Given the description of an element on the screen output the (x, y) to click on. 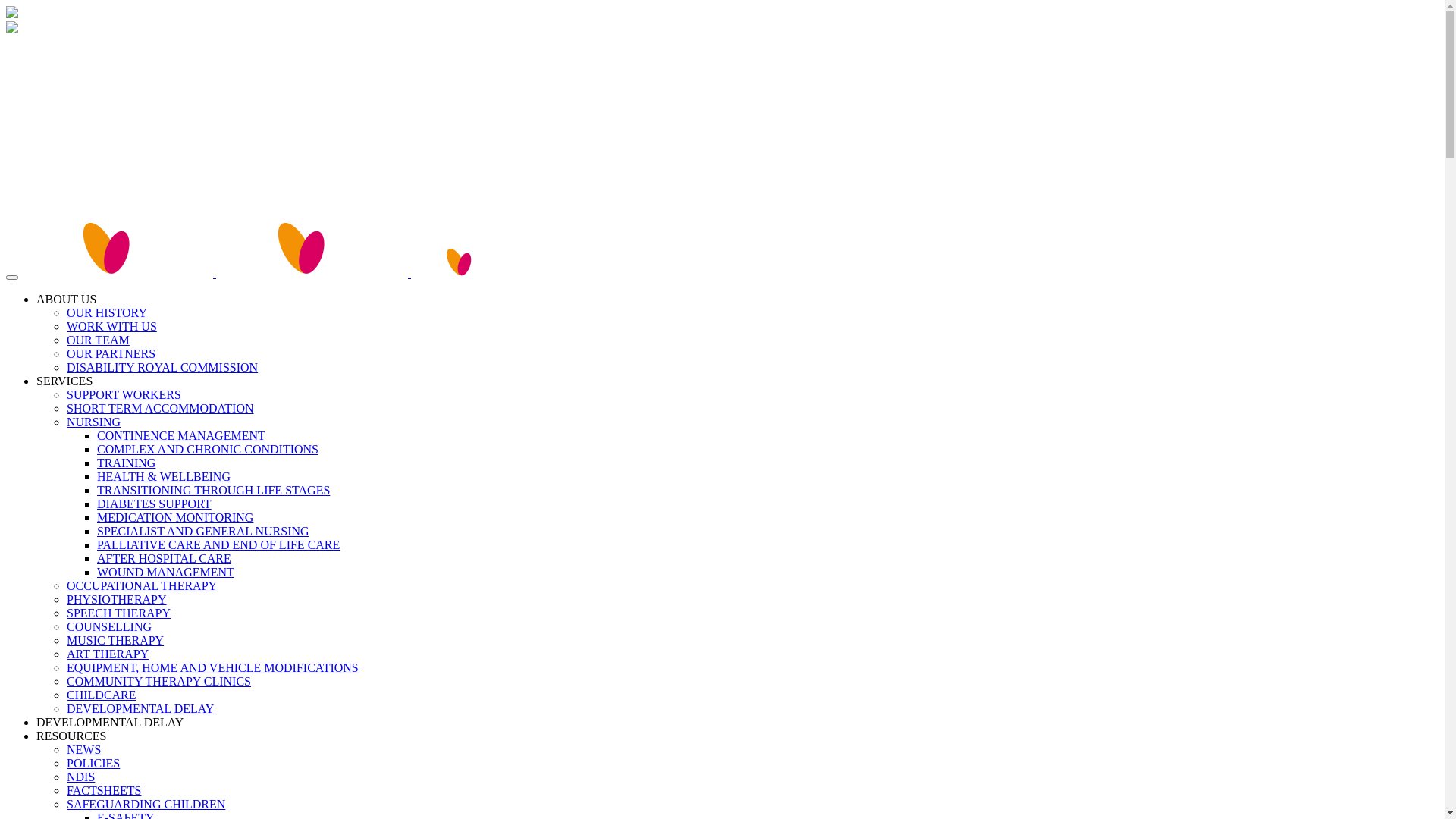
HEALTH & WELLBEING Element type: text (163, 476)
ABOUT US Element type: text (66, 298)
DIABETES SUPPORT Element type: text (154, 503)
WOUND MANAGEMENT Element type: text (165, 571)
ART THERAPY Element type: text (107, 653)
SERVICES Element type: text (64, 380)
SHORT TERM ACCOMMODATION Element type: text (159, 407)
TRANSITIONING THROUGH LIFE STAGES Element type: text (213, 489)
EQUIPMENT, HOME AND VEHICLE MODIFICATIONS Element type: text (212, 667)
SAFEGUARDING CHILDREN Element type: text (145, 803)
POLICIES Element type: text (92, 762)
DEVELOPMENTAL DELAY Element type: text (139, 708)
DISABILITY ROYAL COMMISSION Element type: text (161, 366)
FACTSHEETS Element type: text (103, 790)
CHILDCARE Element type: text (101, 694)
SPEECH THERAPY Element type: text (118, 612)
AFTER HOSPITAL CARE Element type: text (164, 558)
SPECIALIST AND GENERAL NURSING Element type: text (203, 530)
TRAINING Element type: text (126, 462)
OUR PARTNERS Element type: text (110, 353)
PHYSIOTHERAPY Element type: text (116, 599)
PALLIATIVE CARE AND END OF LIFE CARE Element type: text (218, 544)
DEVELOPMENTAL DELAY Element type: text (109, 721)
OCCUPATIONAL THERAPY Element type: text (141, 585)
NURSING Element type: text (93, 421)
OUR HISTORY Element type: text (106, 312)
MUSIC THERAPY Element type: text (114, 639)
NEWS Element type: text (83, 749)
COMPLEX AND CHRONIC CONDITIONS Element type: text (207, 448)
SUPPORT WORKERS Element type: text (123, 394)
RESOURCES Element type: text (71, 735)
OUR TEAM Element type: text (97, 339)
NDIS Element type: text (80, 776)
WORK WITH US Element type: text (111, 326)
MEDICATION MONITORING Element type: text (175, 517)
CONTINENCE MANAGEMENT Element type: text (181, 435)
COUNSELLING Element type: text (108, 626)
COMMUNITY THERAPY CLINICS Element type: text (158, 680)
